Given the description of an element on the screen output the (x, y) to click on. 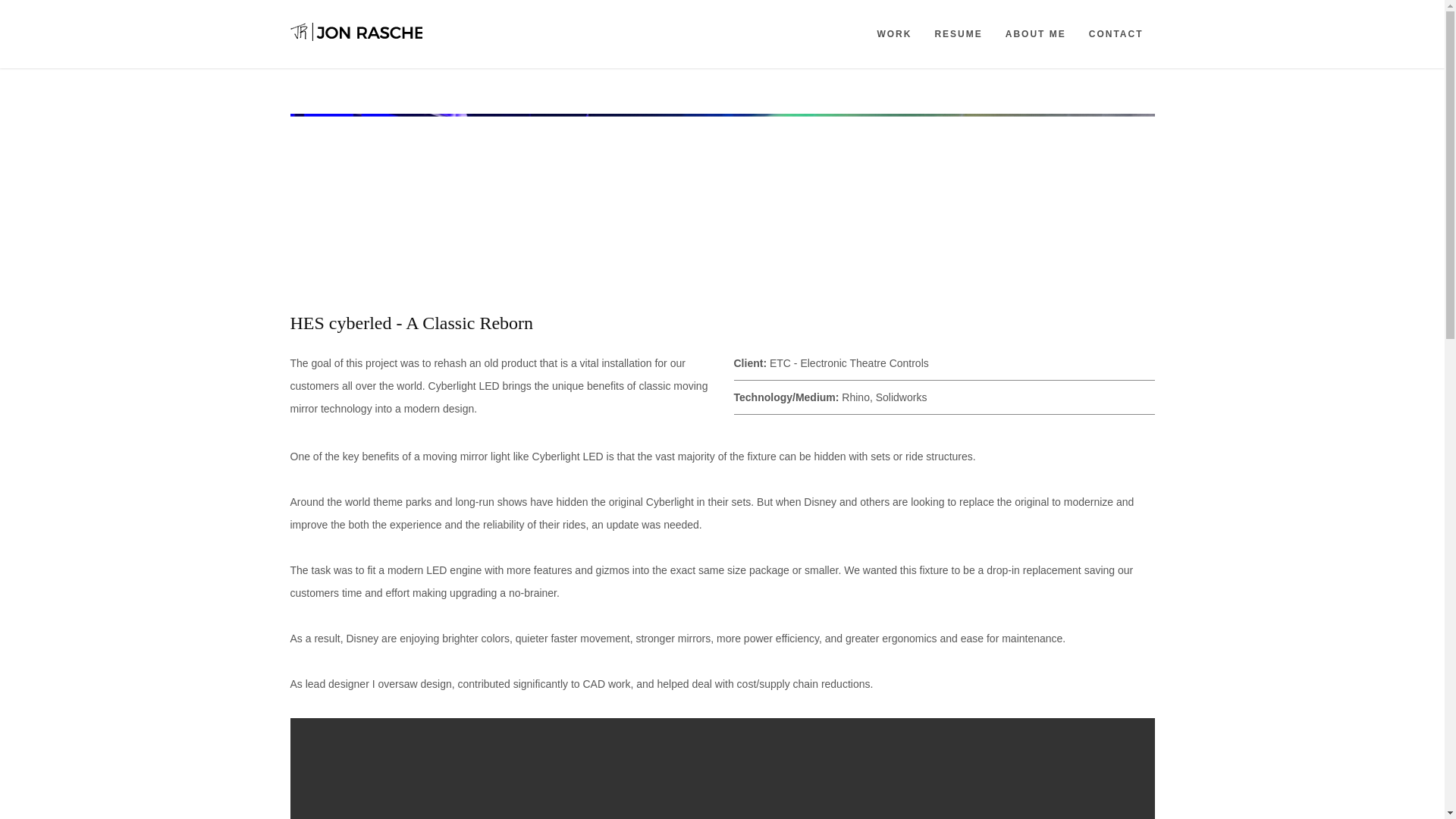
ABOUT ME (1035, 33)
RESUME (957, 33)
CONTACT (1115, 33)
